Given the description of an element on the screen output the (x, y) to click on. 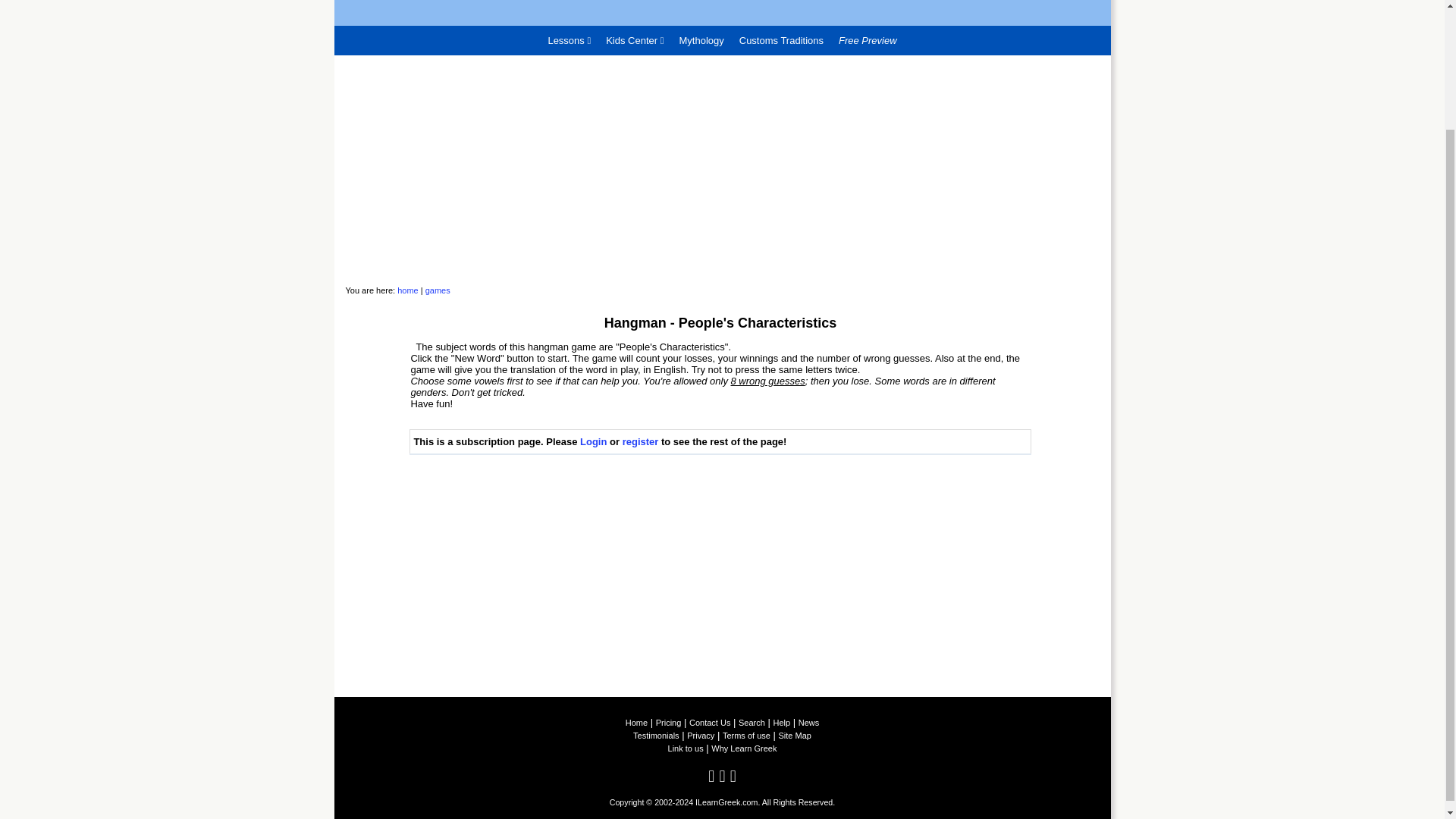
Free Preview (867, 40)
Customs Traditions (781, 40)
Mythology (701, 40)
register (641, 441)
home (408, 289)
Contact Us (709, 722)
Pricing (668, 722)
Login (593, 441)
Lessons (569, 40)
Kids Center (634, 40)
Search (751, 722)
games (437, 289)
Home (636, 722)
